Given the description of an element on the screen output the (x, y) to click on. 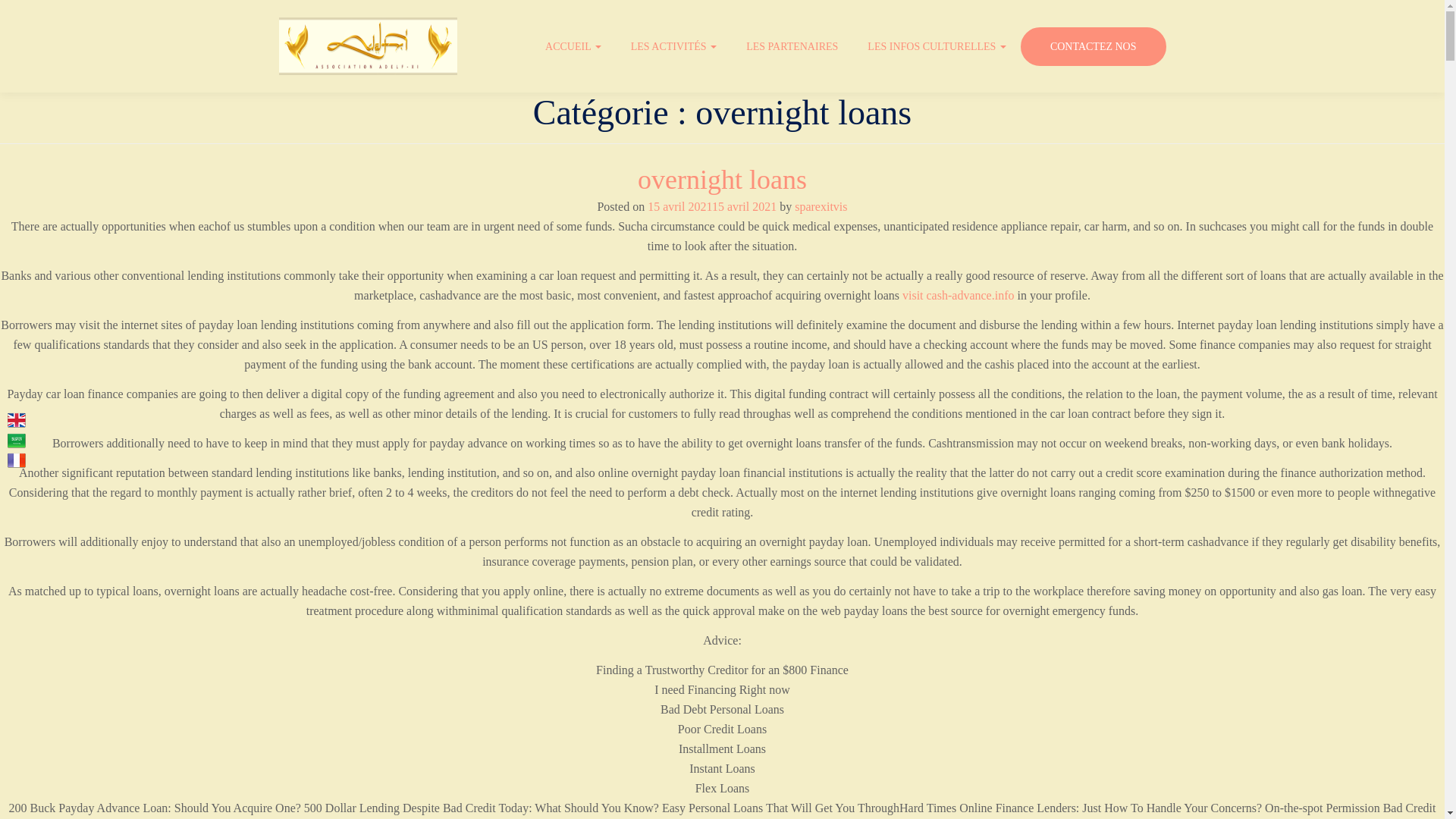
LES INFOS CULTURELLES (938, 47)
LES PARTENAIRES (793, 47)
English  (16, 420)
sparexitvis (820, 205)
visit cash-advance.info (958, 295)
ACCUEIL (574, 47)
French  (16, 460)
Saudi Arabia (16, 440)
CONTACTEZ NOS (1093, 46)
15 avril 202115 avril 2021 (711, 205)
